Given the description of an element on the screen output the (x, y) to click on. 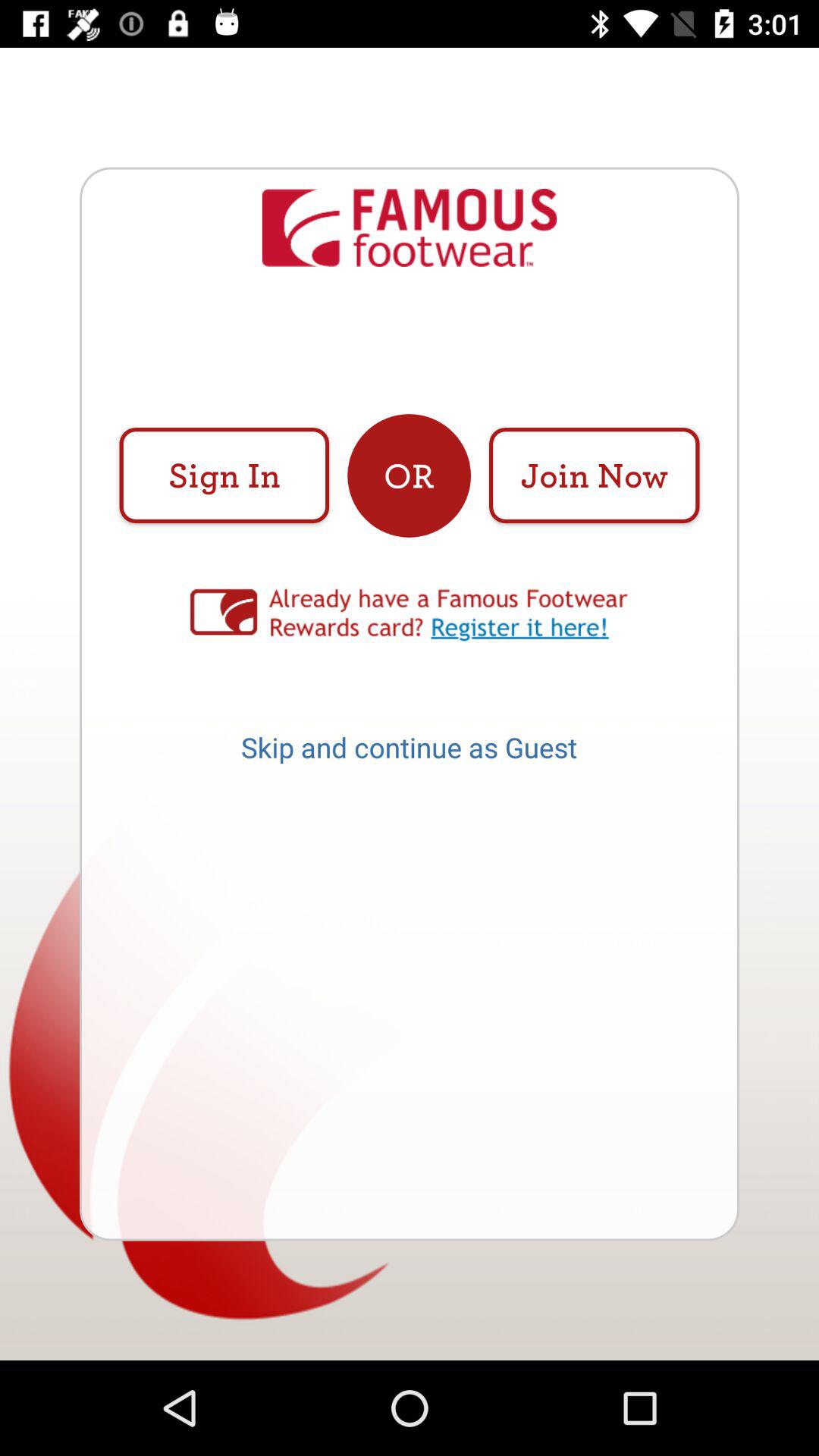
swipe to the join now icon (594, 475)
